Given the description of an element on the screen output the (x, y) to click on. 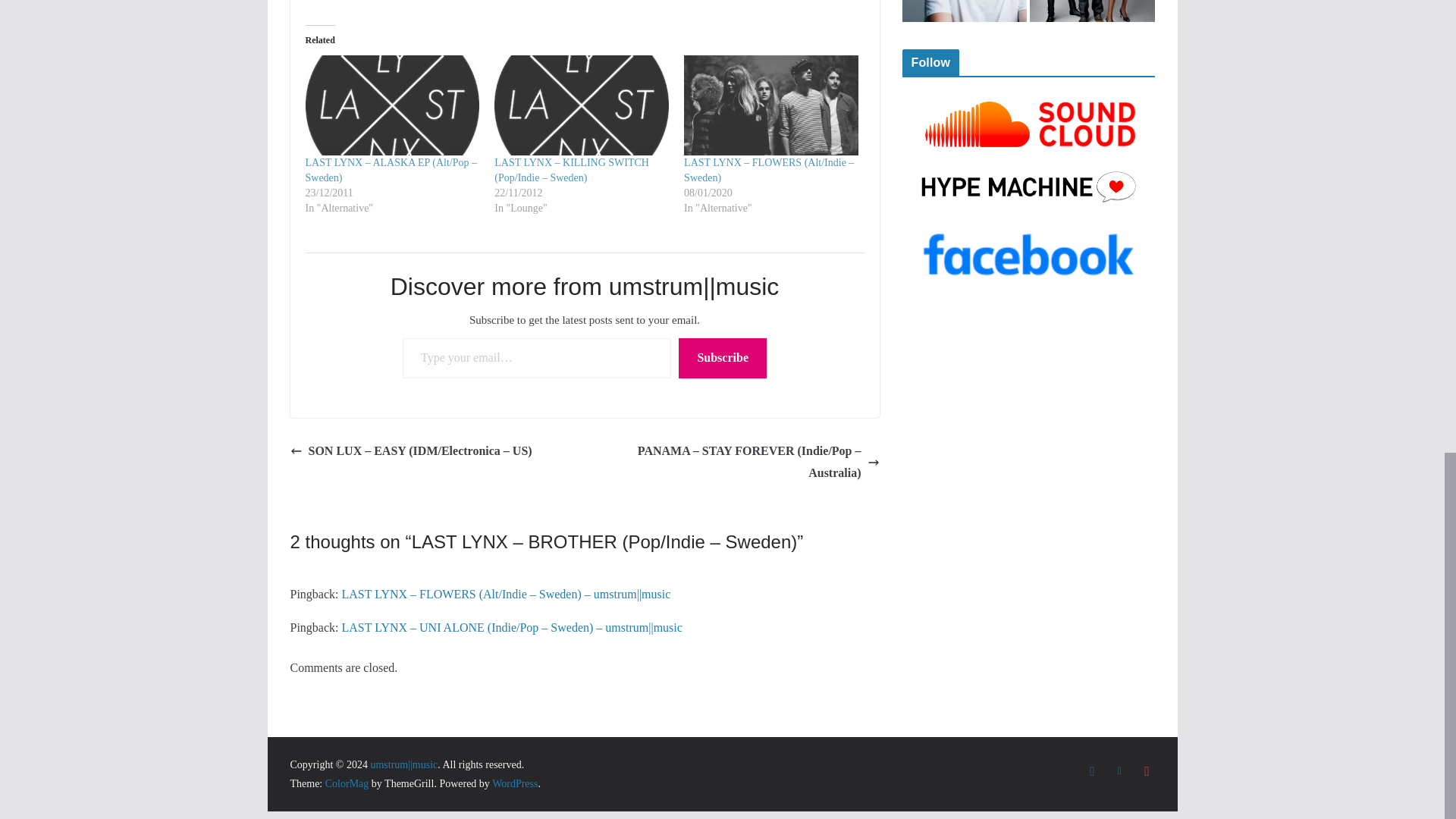
Please fill in this field. (537, 358)
